Given the description of an element on the screen output the (x, y) to click on. 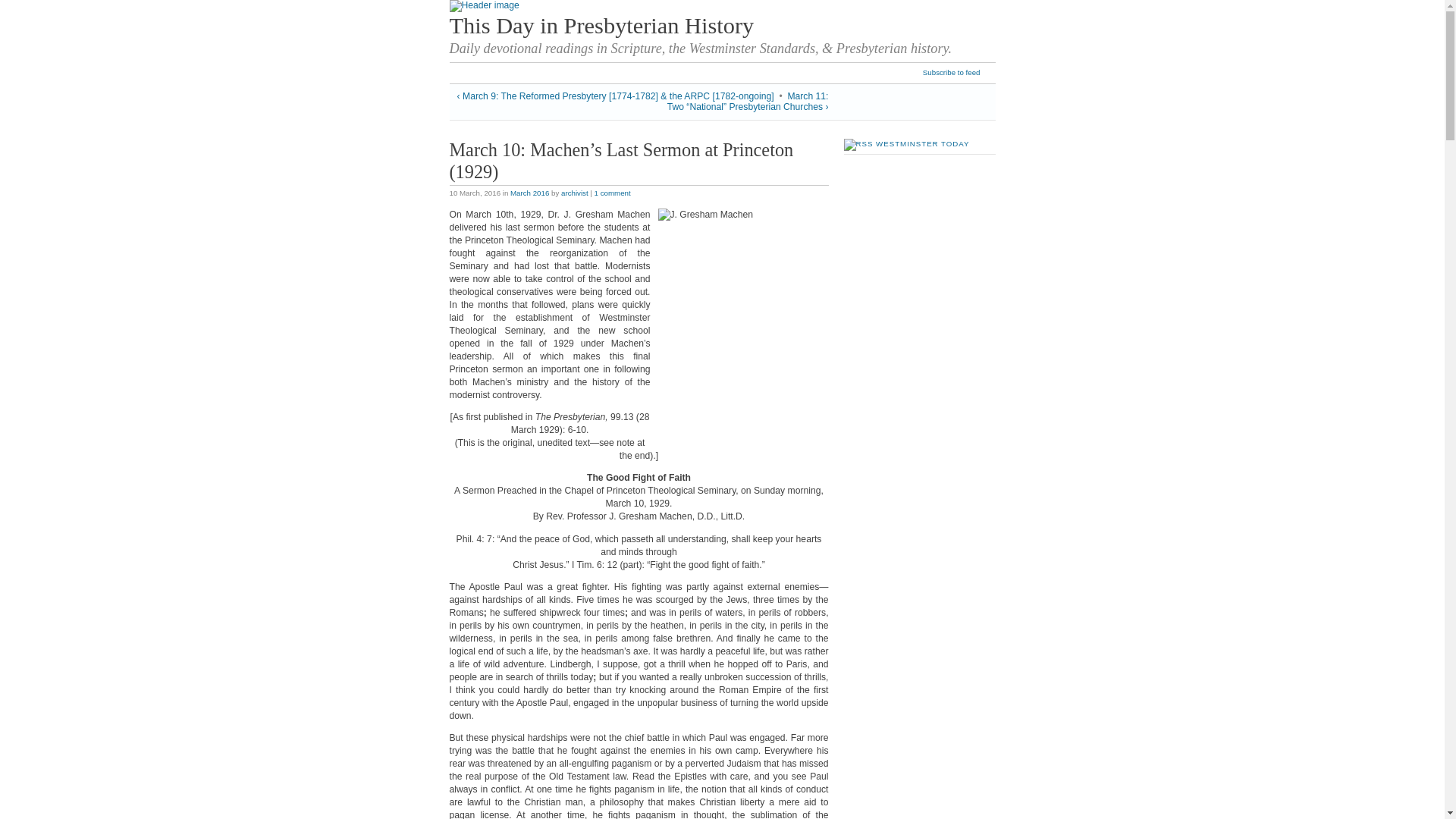
Return to main page (483, 5)
WESTMINSTER TODAY (922, 143)
This Day in Presbyterian History (601, 25)
Return to main page (601, 25)
1 comment (612, 193)
Subscribe to feed (959, 72)
Articles by archivist (574, 193)
archivist (574, 193)
March 2016 (529, 193)
